Given the description of an element on the screen output the (x, y) to click on. 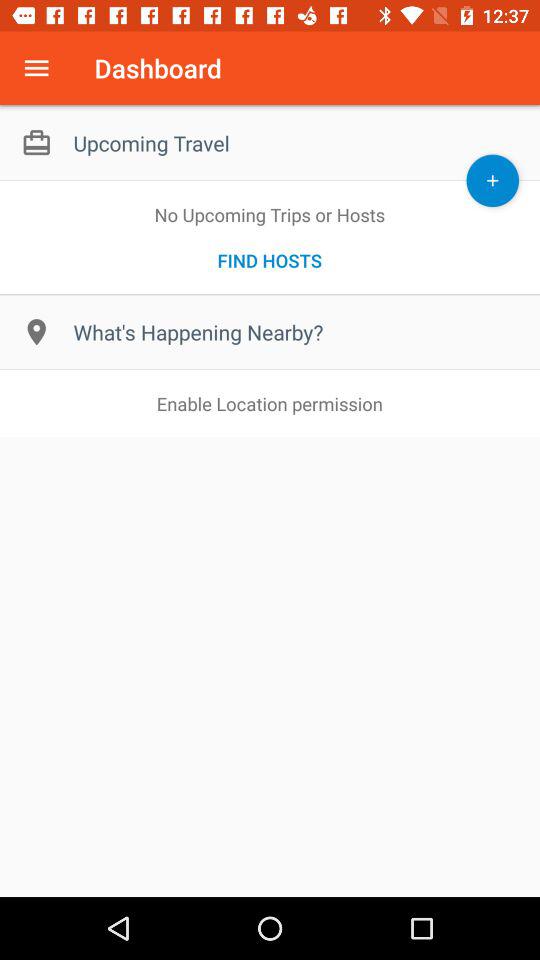
add a topic (492, 180)
